Given the description of an element on the screen output the (x, y) to click on. 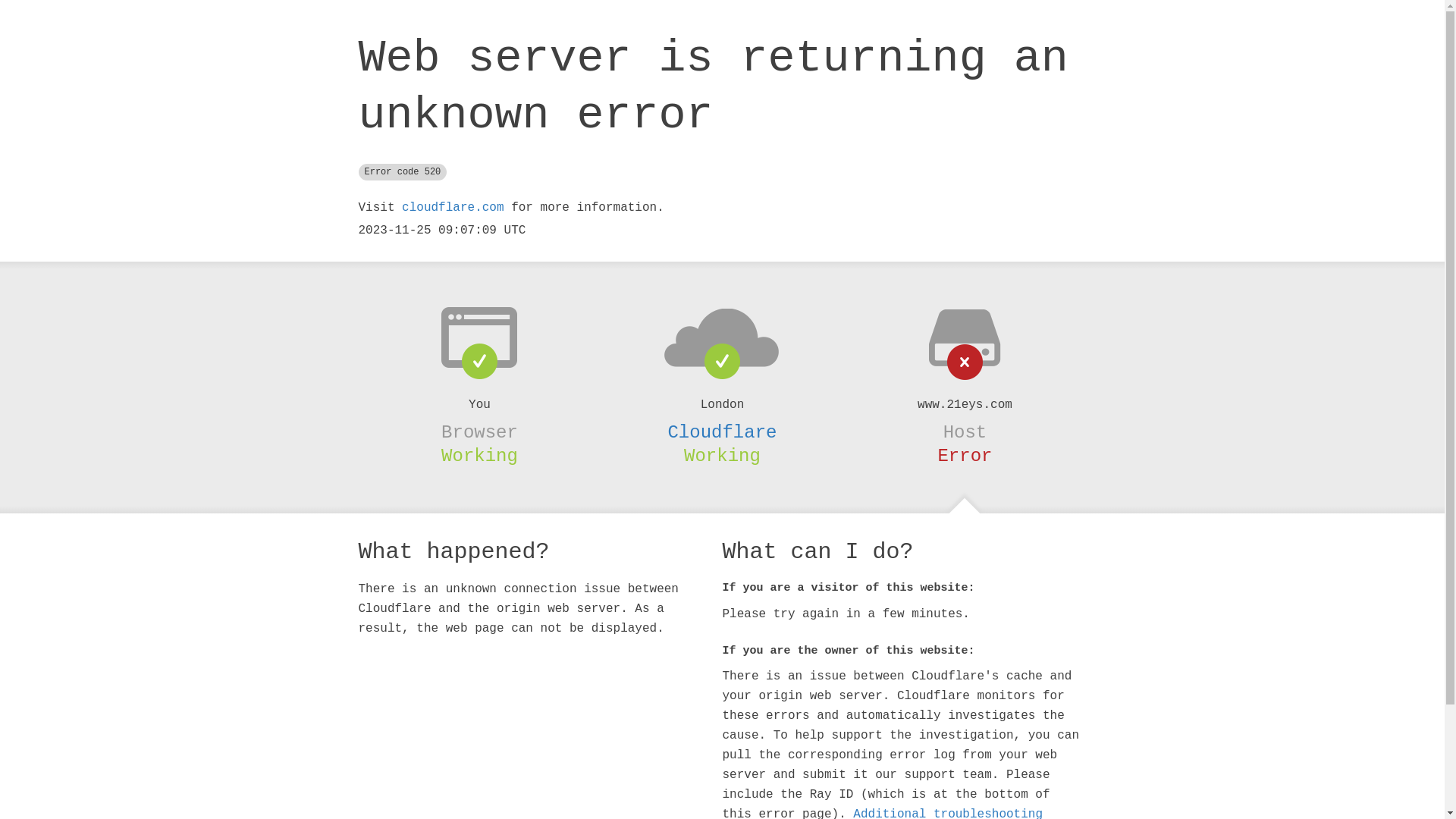
Cloudflare Element type: text (721, 432)
cloudflare.com Element type: text (452, 207)
